Given the description of an element on the screen output the (x, y) to click on. 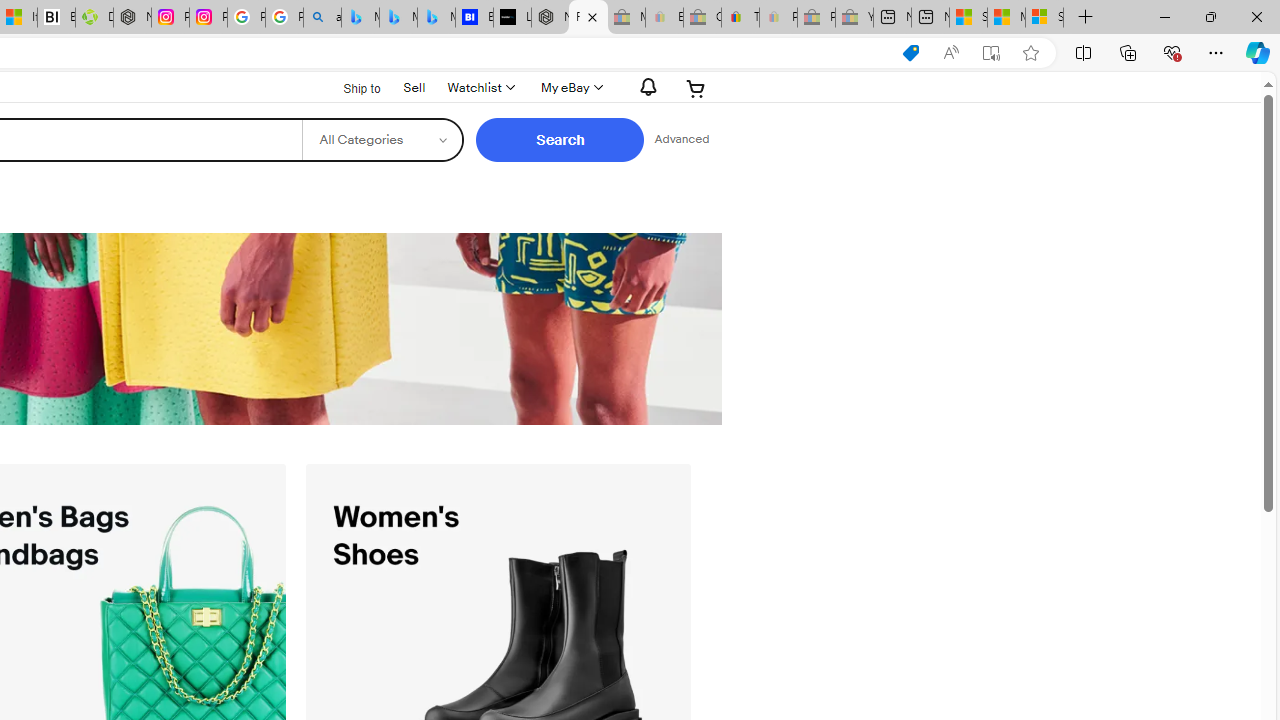
AutomationID: gh-eb-Alerts (645, 87)
Ship to (349, 86)
Payments Terms of Use | eBay.com - Sleeping (778, 17)
Descarga Driver Updater (93, 17)
Threats and offensive language policy | eBay (740, 17)
